Given the description of an element on the screen output the (x, y) to click on. 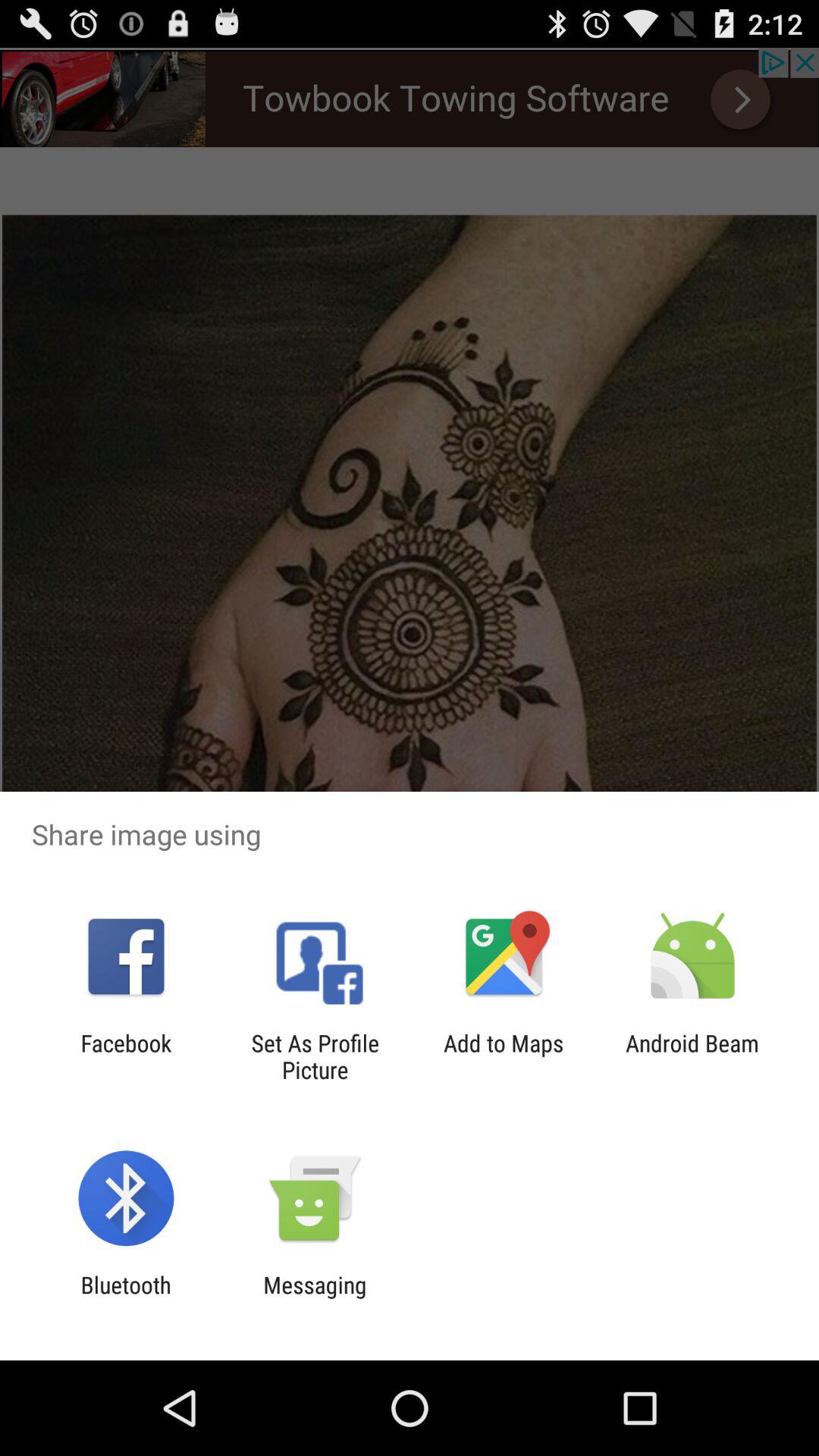
tap the app next to the bluetooth (314, 1298)
